Given the description of an element on the screen output the (x, y) to click on. 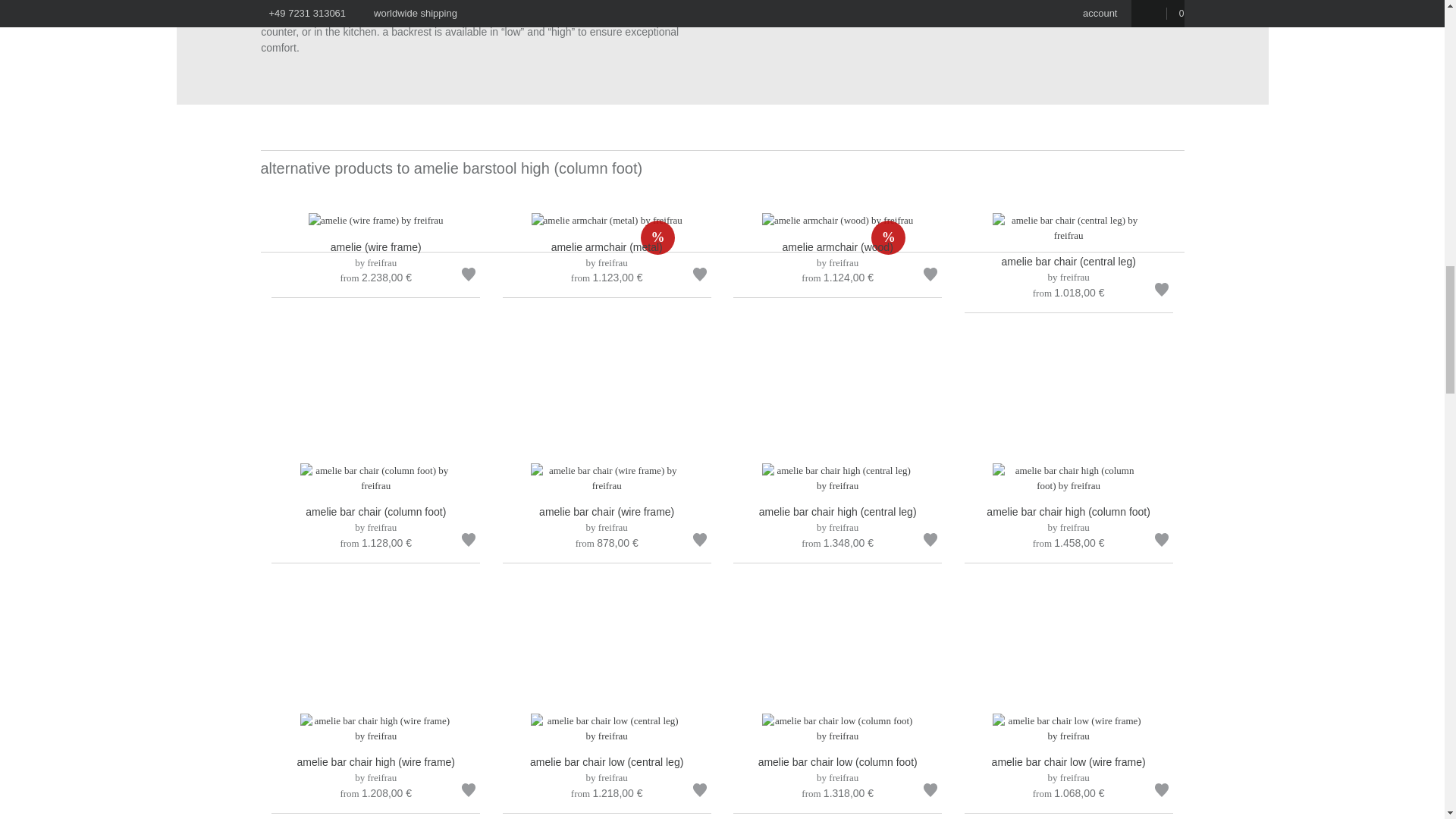
add to wishlist (699, 542)
add to wishlist (930, 276)
add to wishlist (1161, 292)
add to wishlist (699, 276)
add to wishlist (468, 542)
add to wishlist (468, 276)
